Given the description of an element on the screen output the (x, y) to click on. 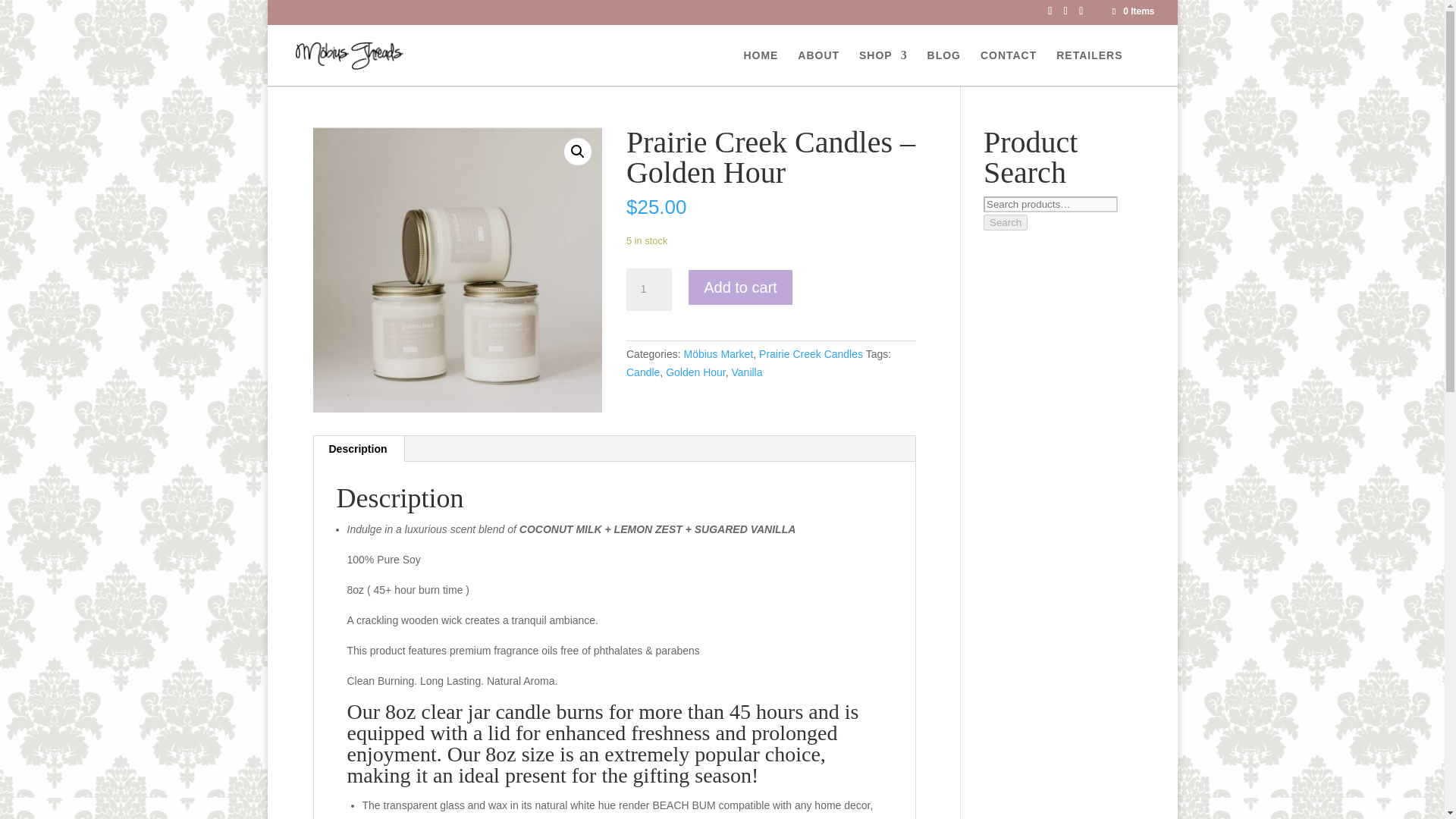
Prairie Creek Candles (810, 354)
Add to cart (740, 287)
ABOUT (818, 67)
Golden Hour (695, 372)
1 (648, 289)
0 Items (1131, 10)
CONTACT (1007, 67)
Search (1005, 222)
Vanilla (747, 372)
BLOG (943, 67)
